Given the description of an element on the screen output the (x, y) to click on. 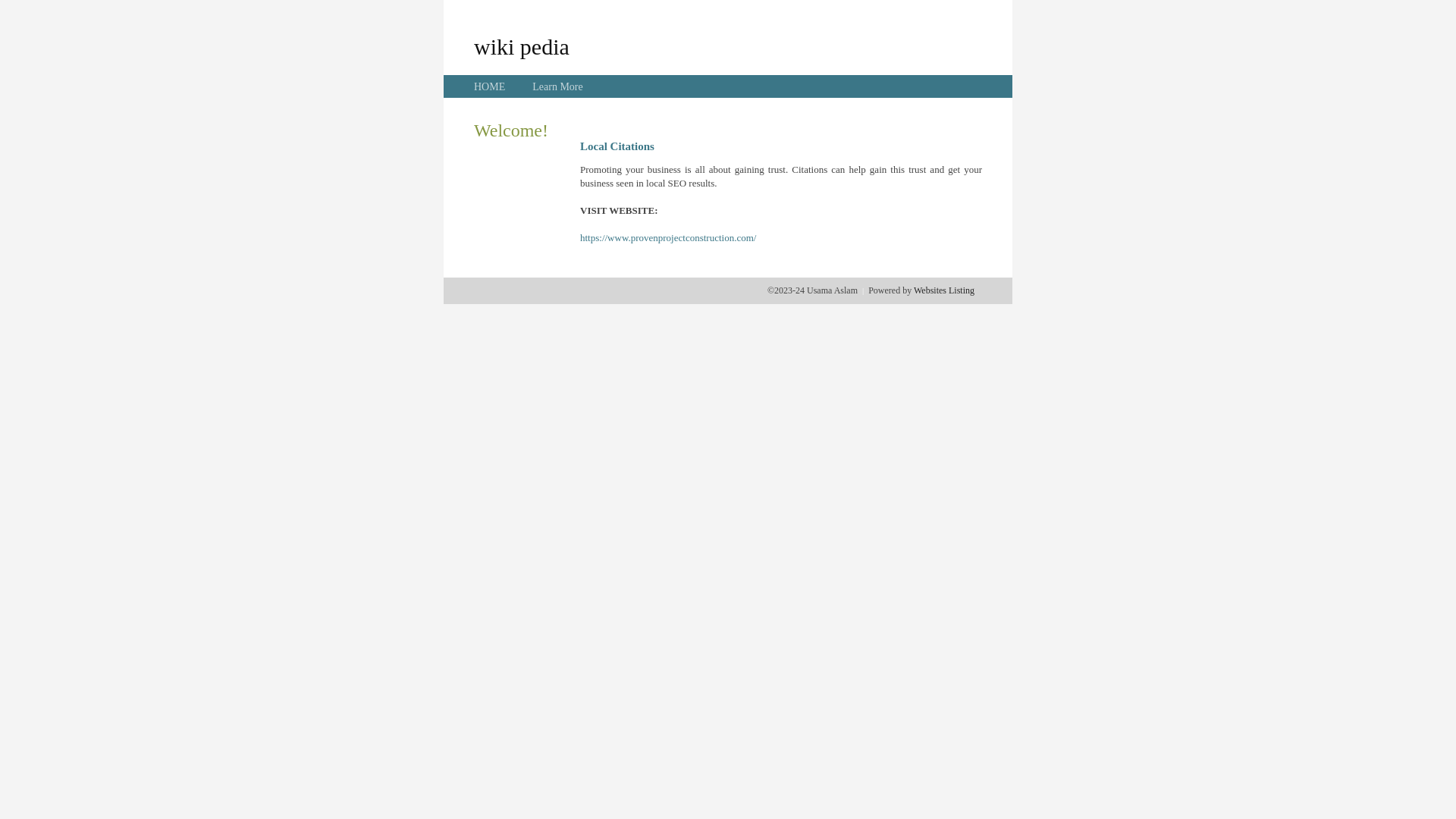
HOME Element type: text (489, 86)
https://www.provenprojectconstruction.com/ Element type: text (668, 237)
Learn More Element type: text (557, 86)
Websites Listing Element type: text (943, 290)
wiki pedia Element type: text (521, 46)
